Given the description of an element on the screen output the (x, y) to click on. 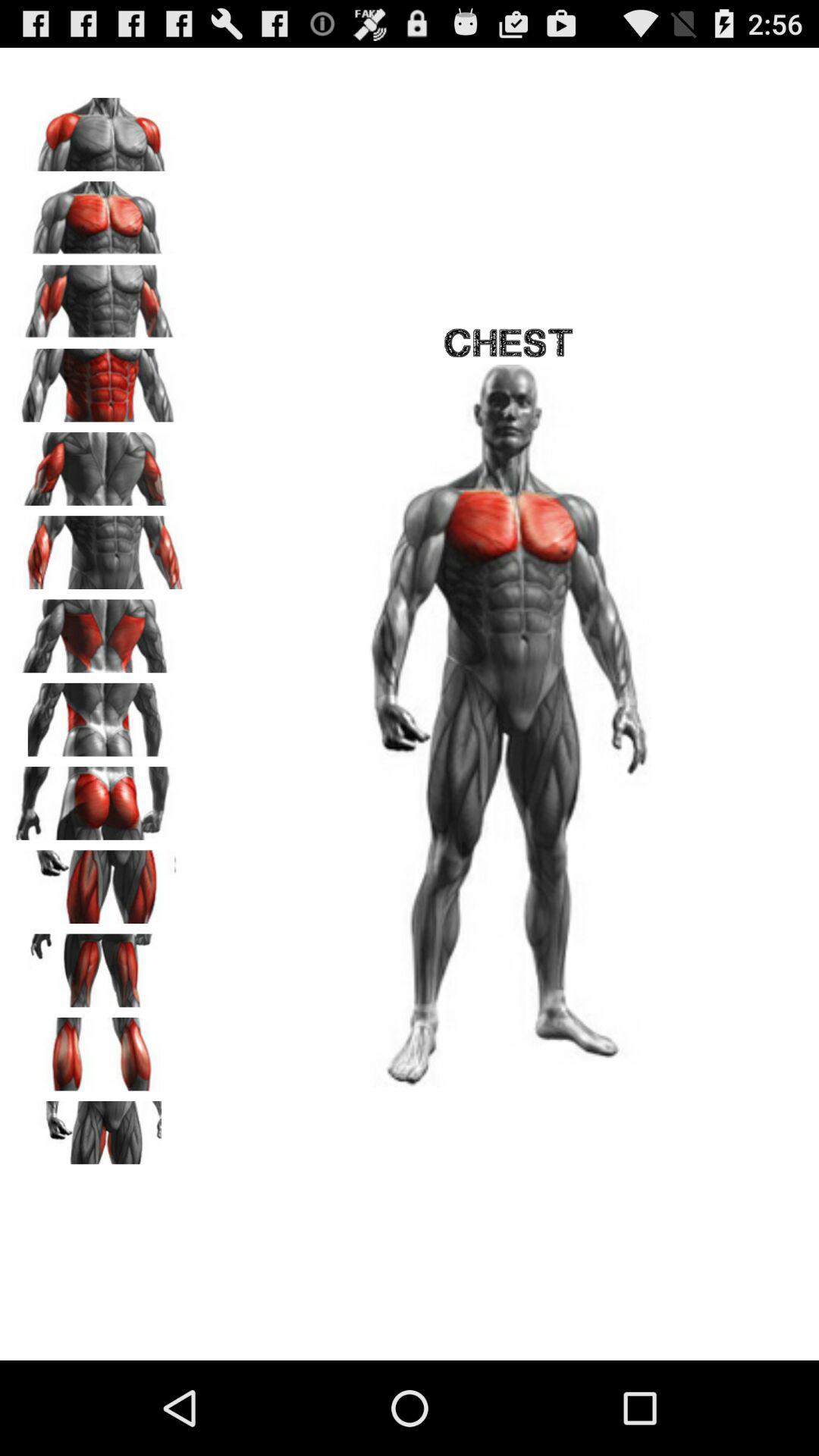
toggle triceps (99, 463)
